Given the description of an element on the screen output the (x, y) to click on. 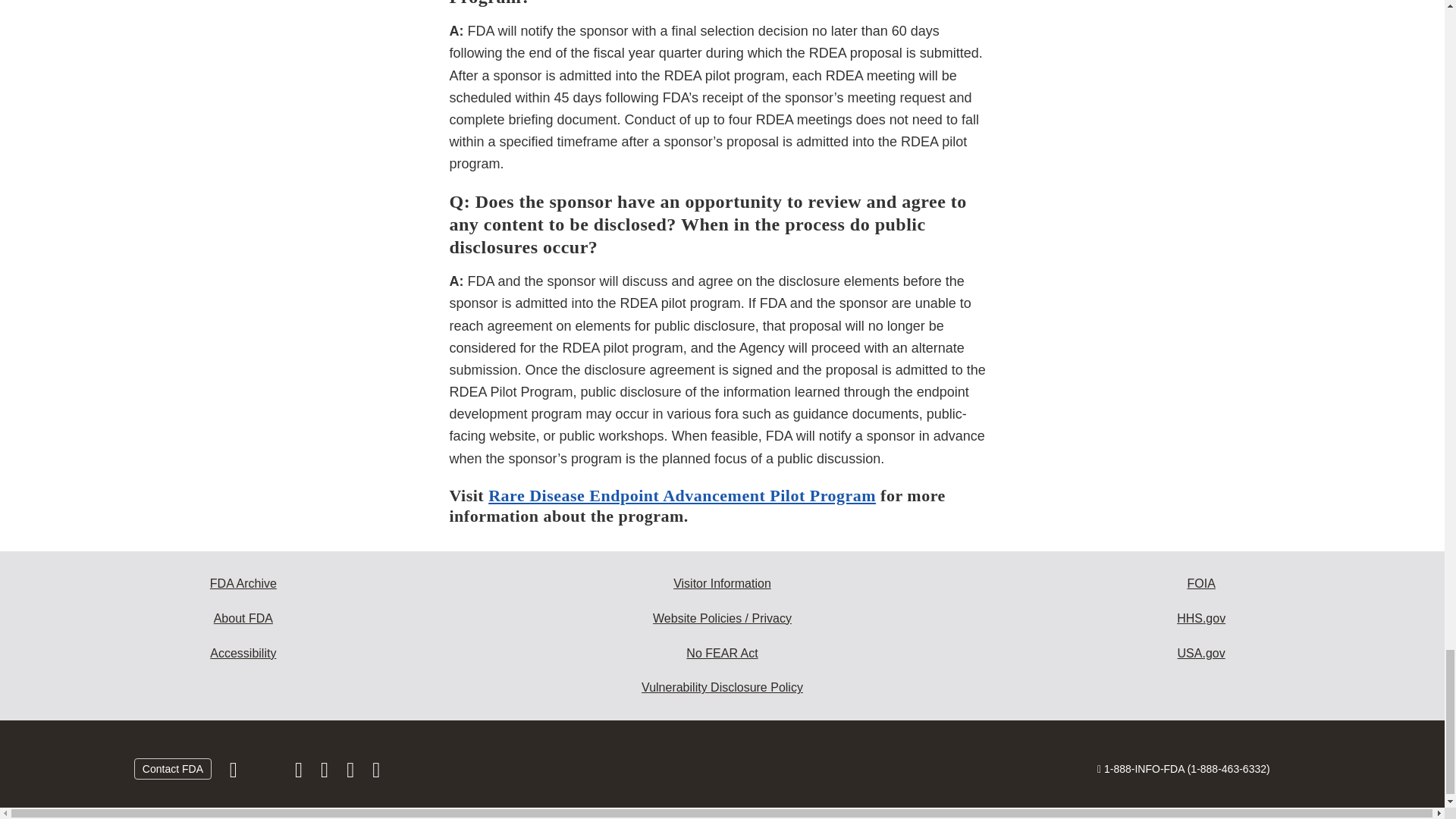
Follow FDA on LinkedIn (326, 773)
Follow FDA on Instagram (299, 773)
Health and Human Services (1200, 618)
View FDA videos on YouTube (352, 773)
Subscribe to FDA RSS feeds (376, 773)
Follow FDA on X (266, 773)
Follow FDA on Facebook (234, 773)
Freedom of Information Act (1200, 583)
